Given the description of an element on the screen output the (x, y) to click on. 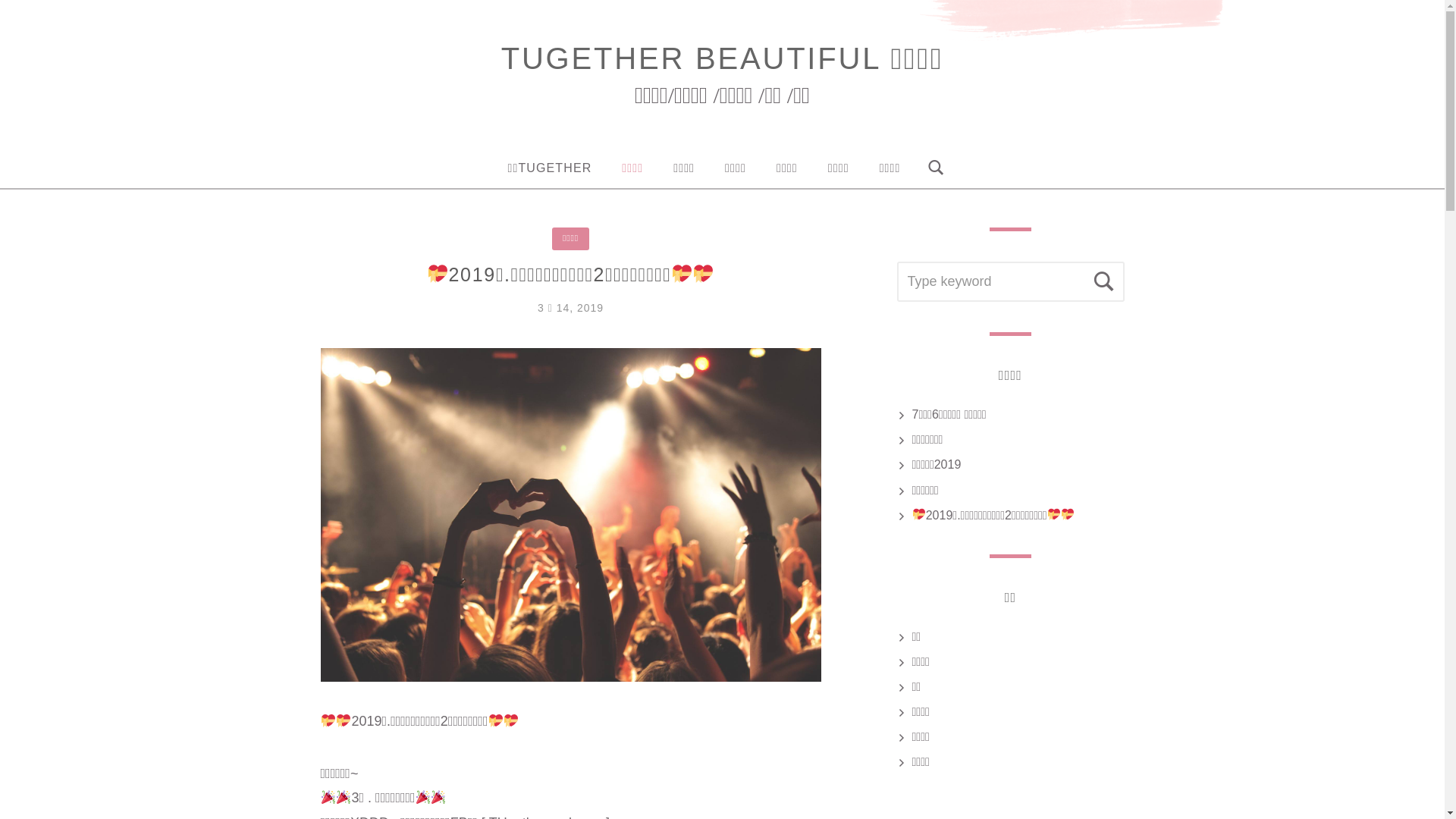
Skip to content Element type: text (0, 0)
Press Enter to submit your search Element type: hover (1009, 281)
Search Element type: text (1104, 281)
